Given the description of an element on the screen output the (x, y) to click on. 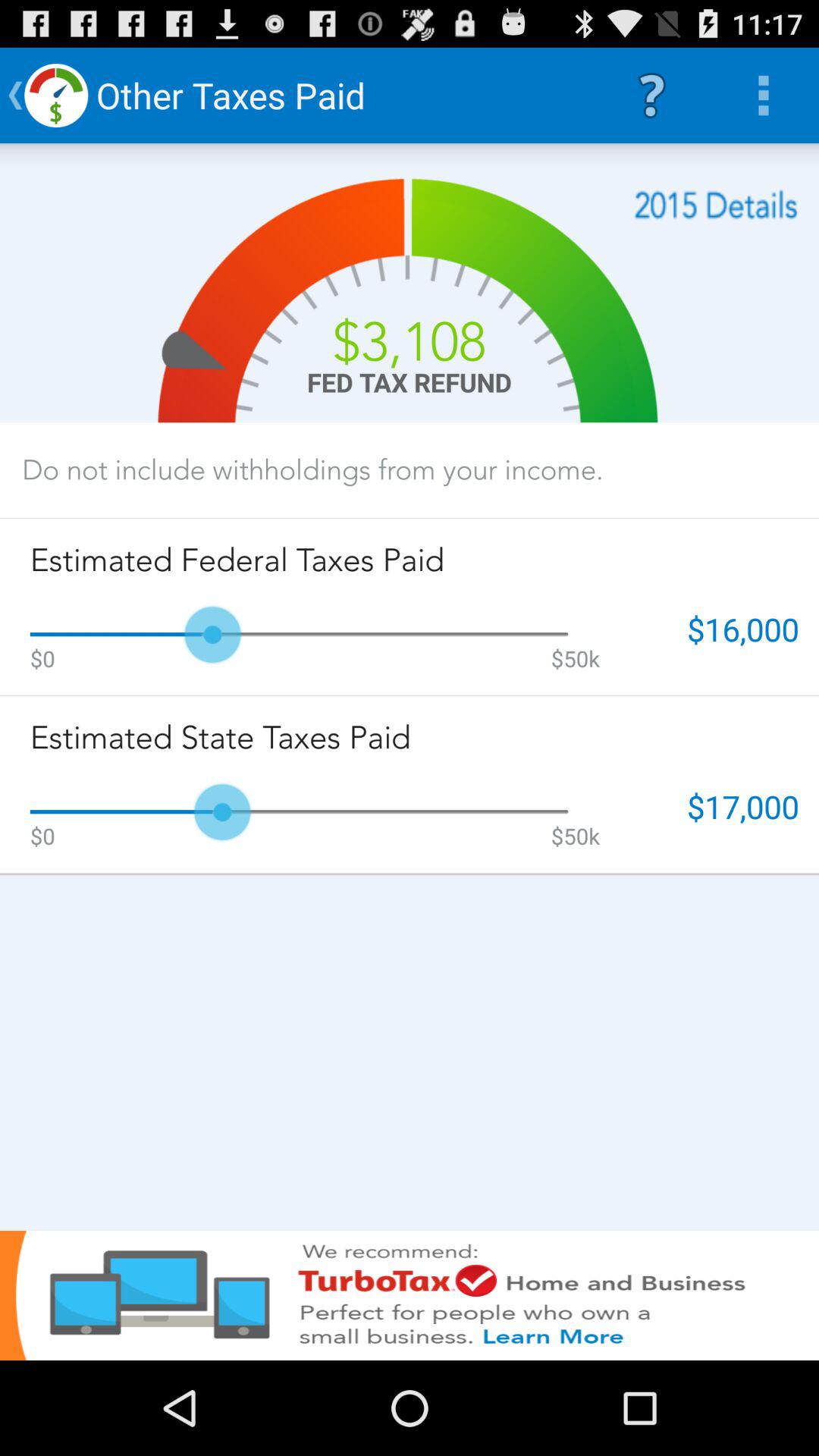
jump to the do not include item (312, 469)
